Given the description of an element on the screen output the (x, y) to click on. 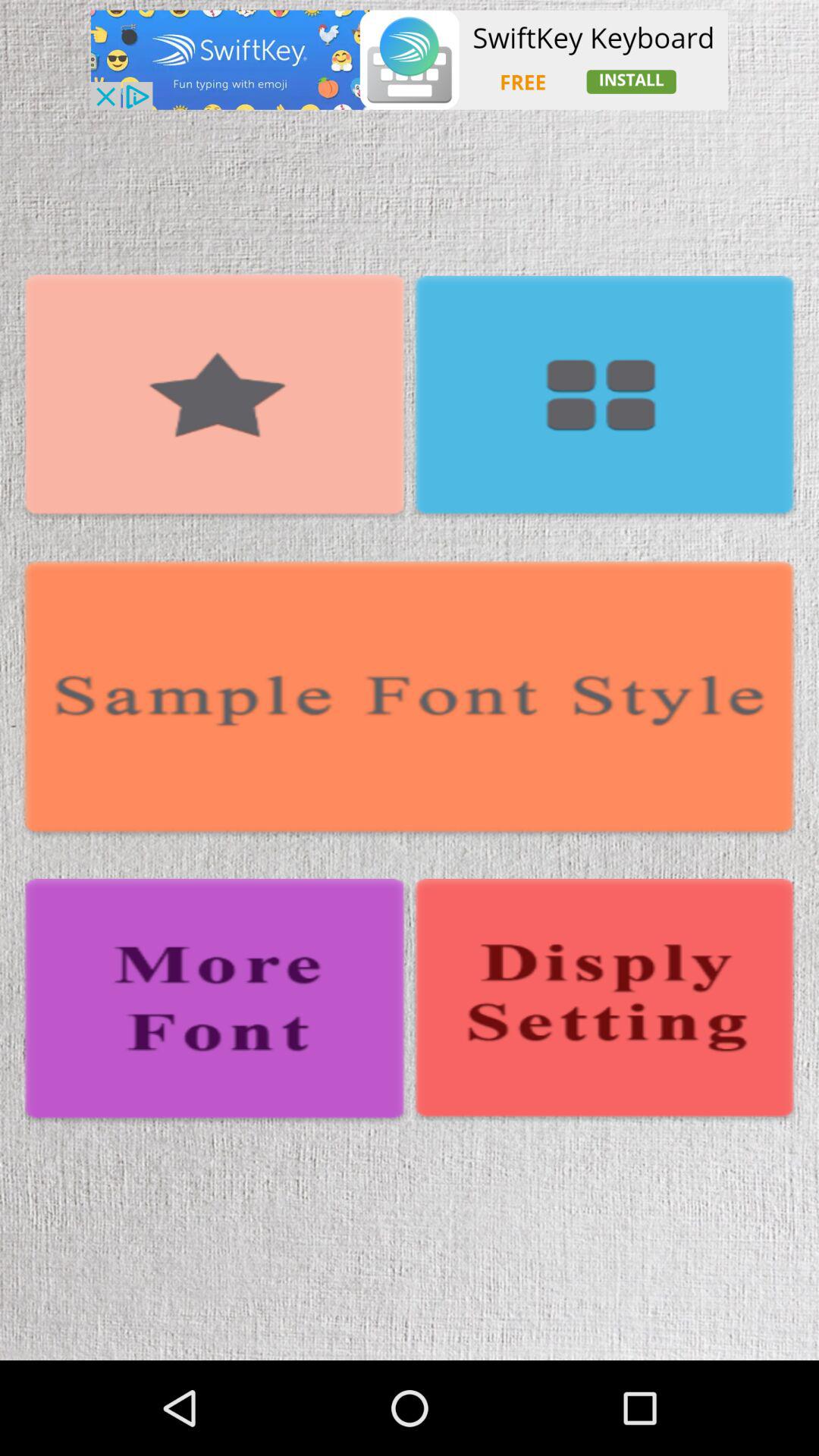
change font style (214, 1001)
